Given the description of an element on the screen output the (x, y) to click on. 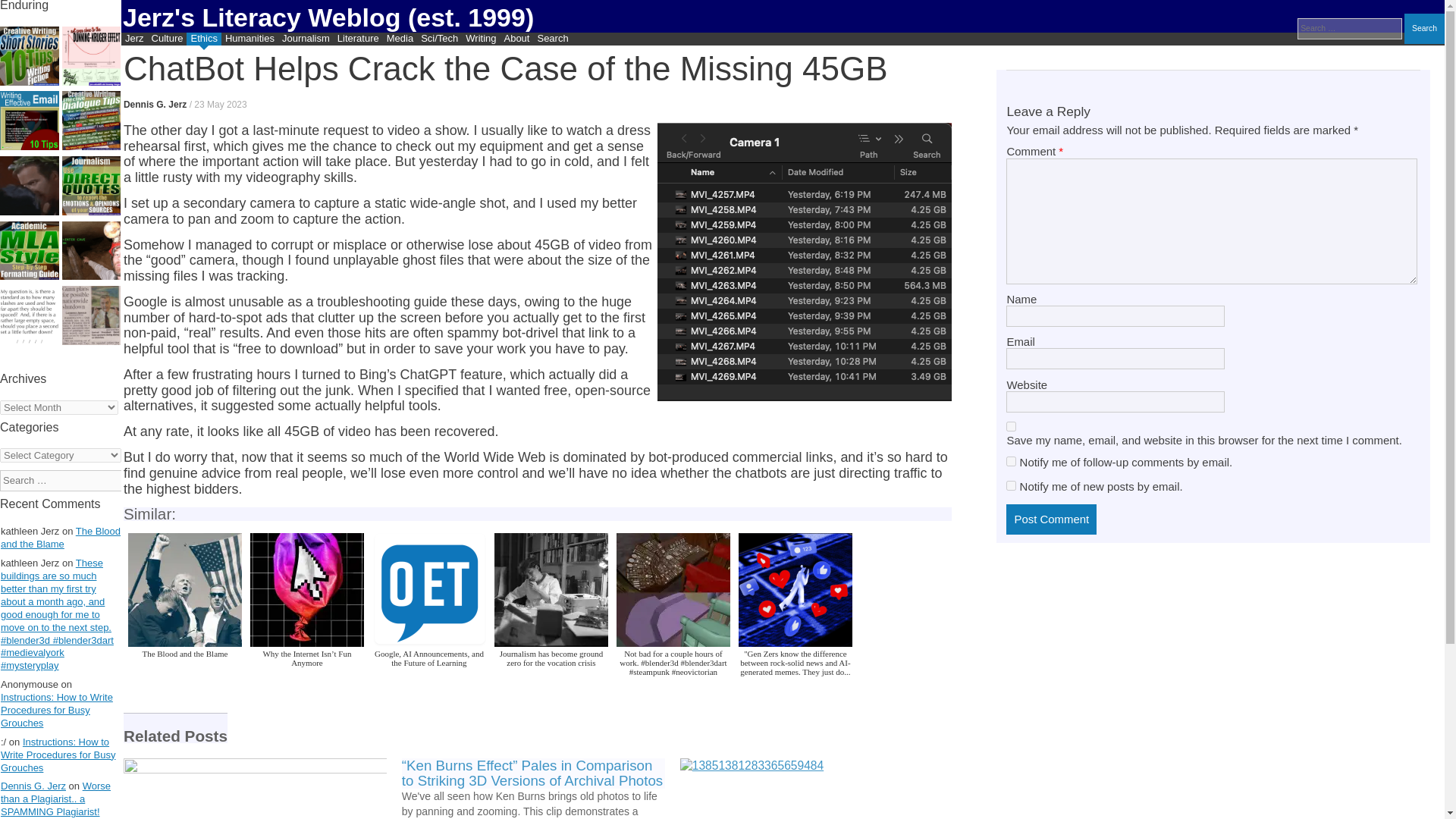
Ethics (203, 38)
Email Tips: Top 10 Strategies for Writing Effective Email (29, 121)
Short Story Tips: 10 Hacks to Improve Your Creative Writing (29, 57)
subscribe (1011, 485)
subscribe (1011, 461)
Humanities (249, 38)
Media (399, 38)
Quotations: Using them Effectively in Journalism (91, 187)
Post Comment (1051, 519)
Rehearsal Rabbi-Cam (811, 788)
Journalism (305, 38)
Jerz (134, 38)
Literature (357, 38)
